Given the description of an element on the screen output the (x, y) to click on. 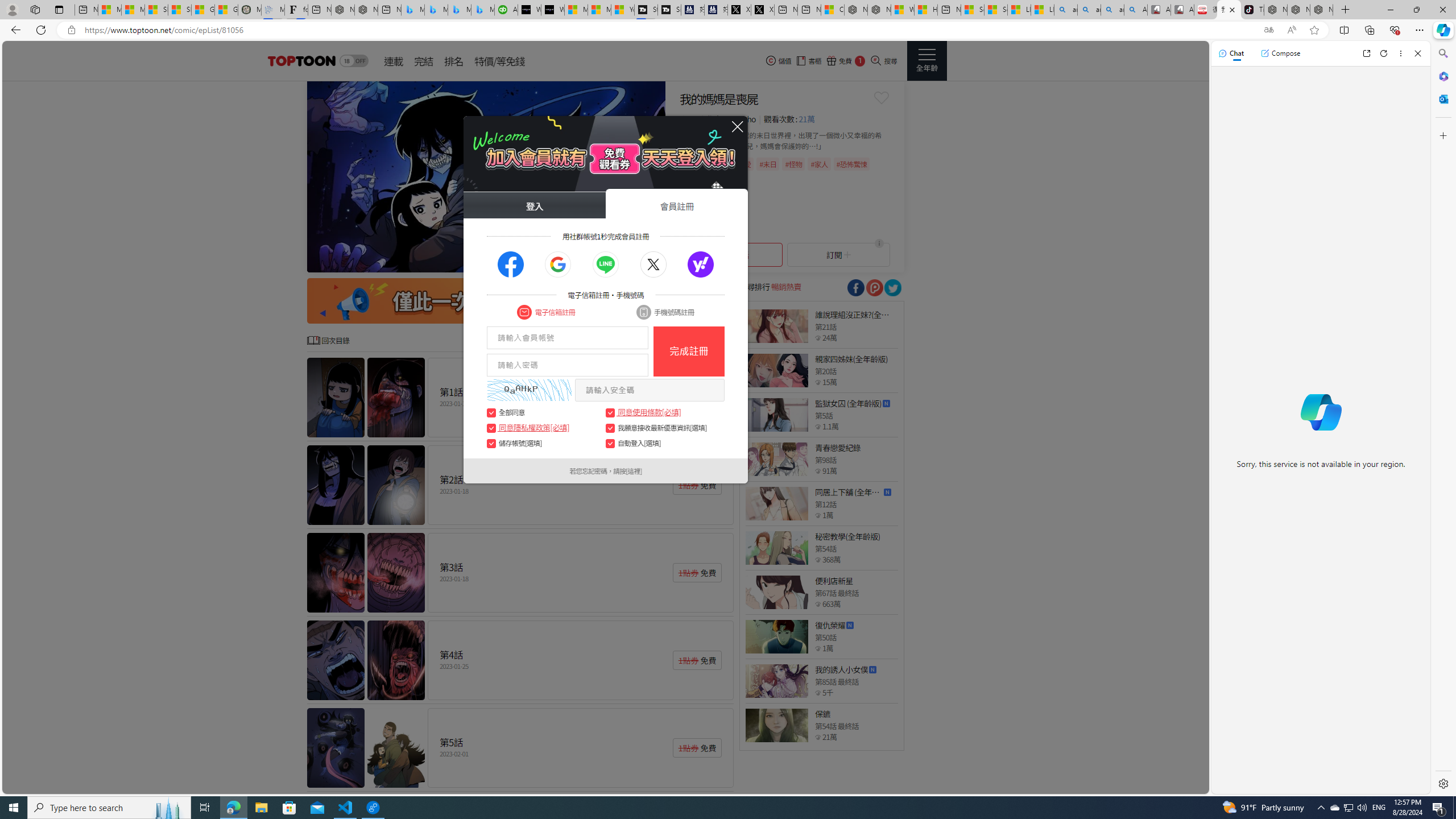
Go to slide 2 (579, 261)
Class: swiper-slide (486, 176)
